Given the description of an element on the screen output the (x, y) to click on. 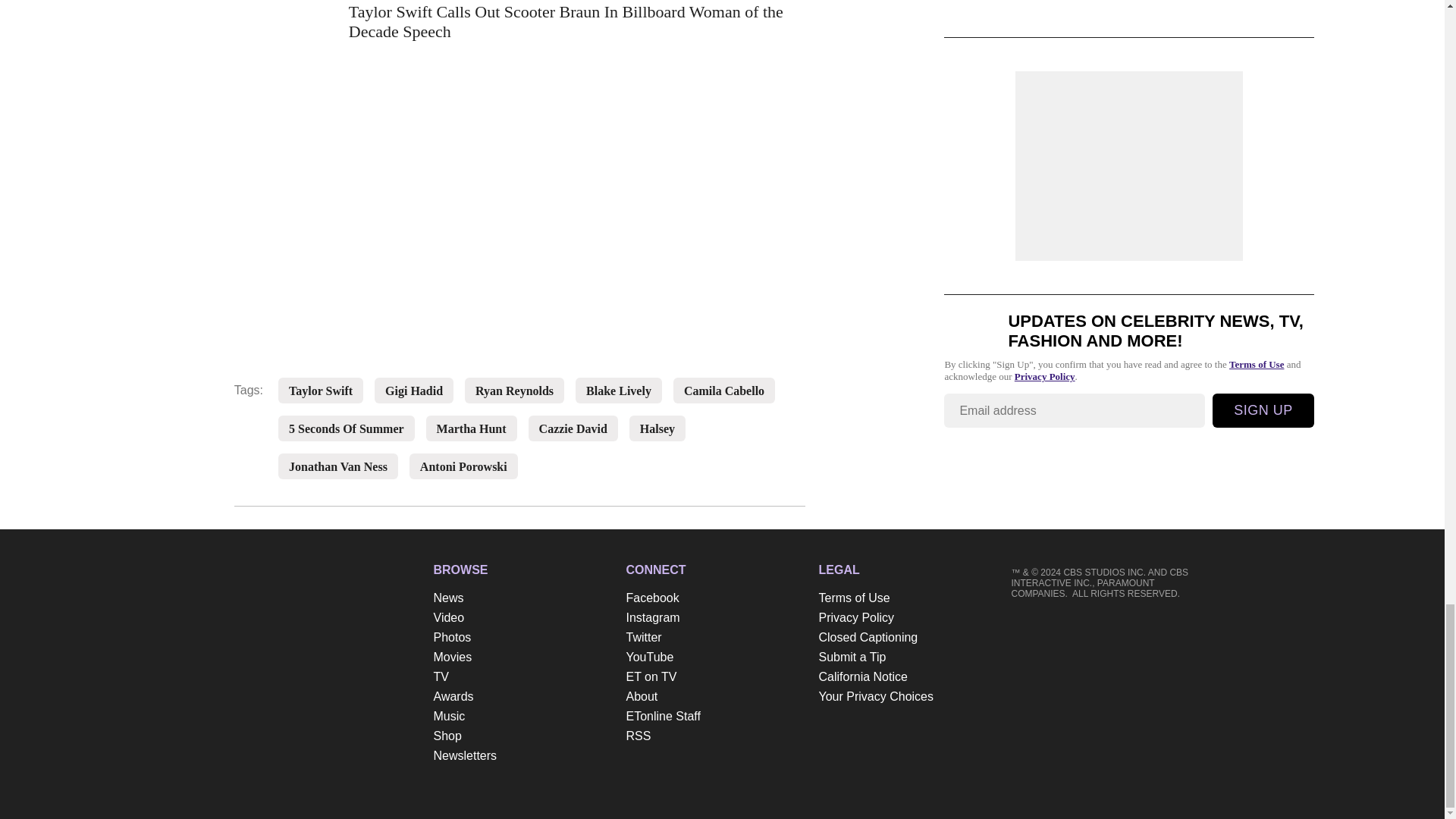
Blake Lively (618, 391)
Ryan Reynolds (514, 391)
5 Seconds Of Summer (346, 428)
Gigi Hadid (413, 391)
Camila Cabello (724, 391)
Taylor Swift (320, 391)
